Given the description of an element on the screen output the (x, y) to click on. 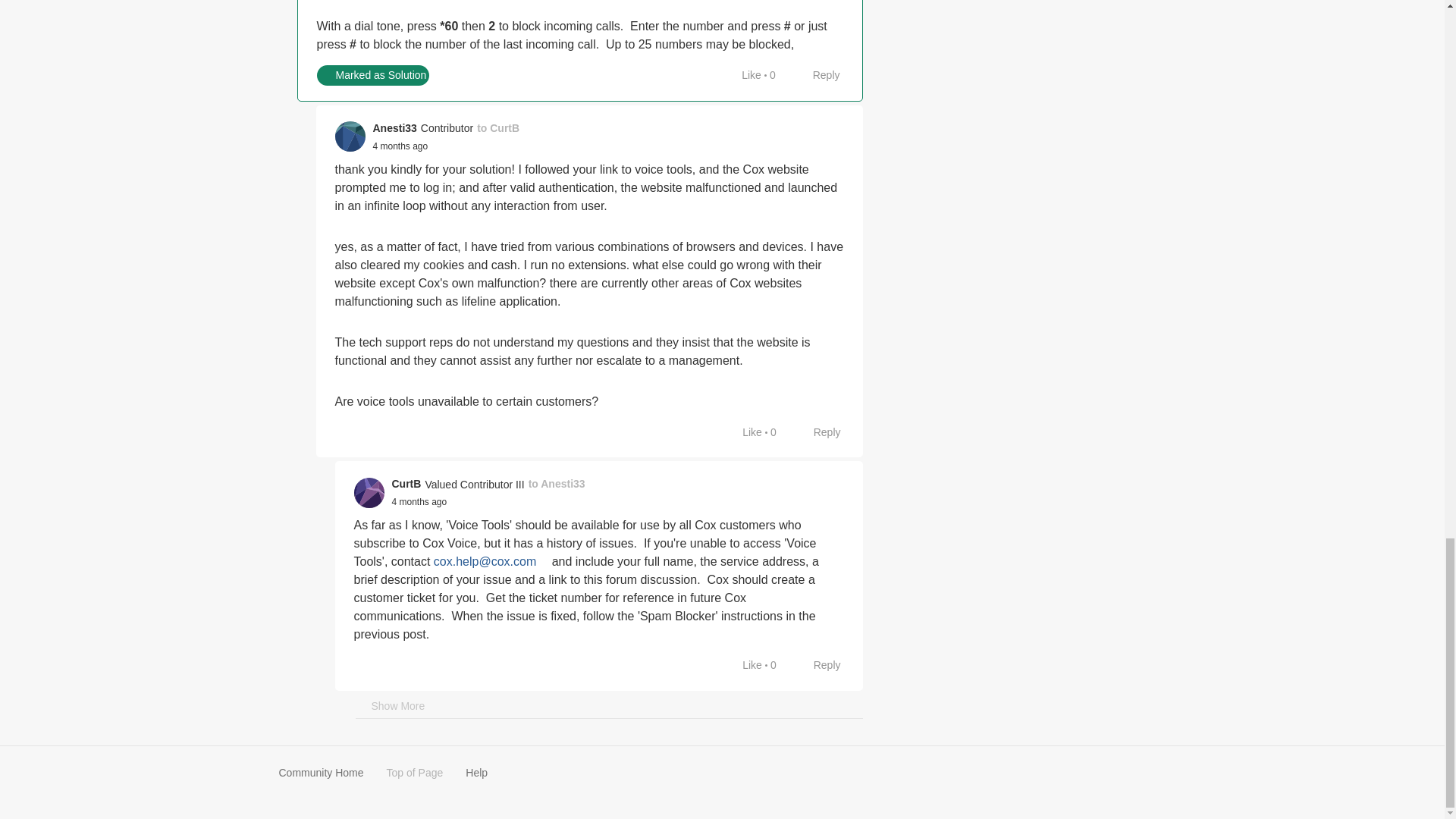
March 28, 2024 at 11:02 AM (418, 501)
March 28, 2024 at 10:15 AM (400, 145)
